Given the description of an element on the screen output the (x, y) to click on. 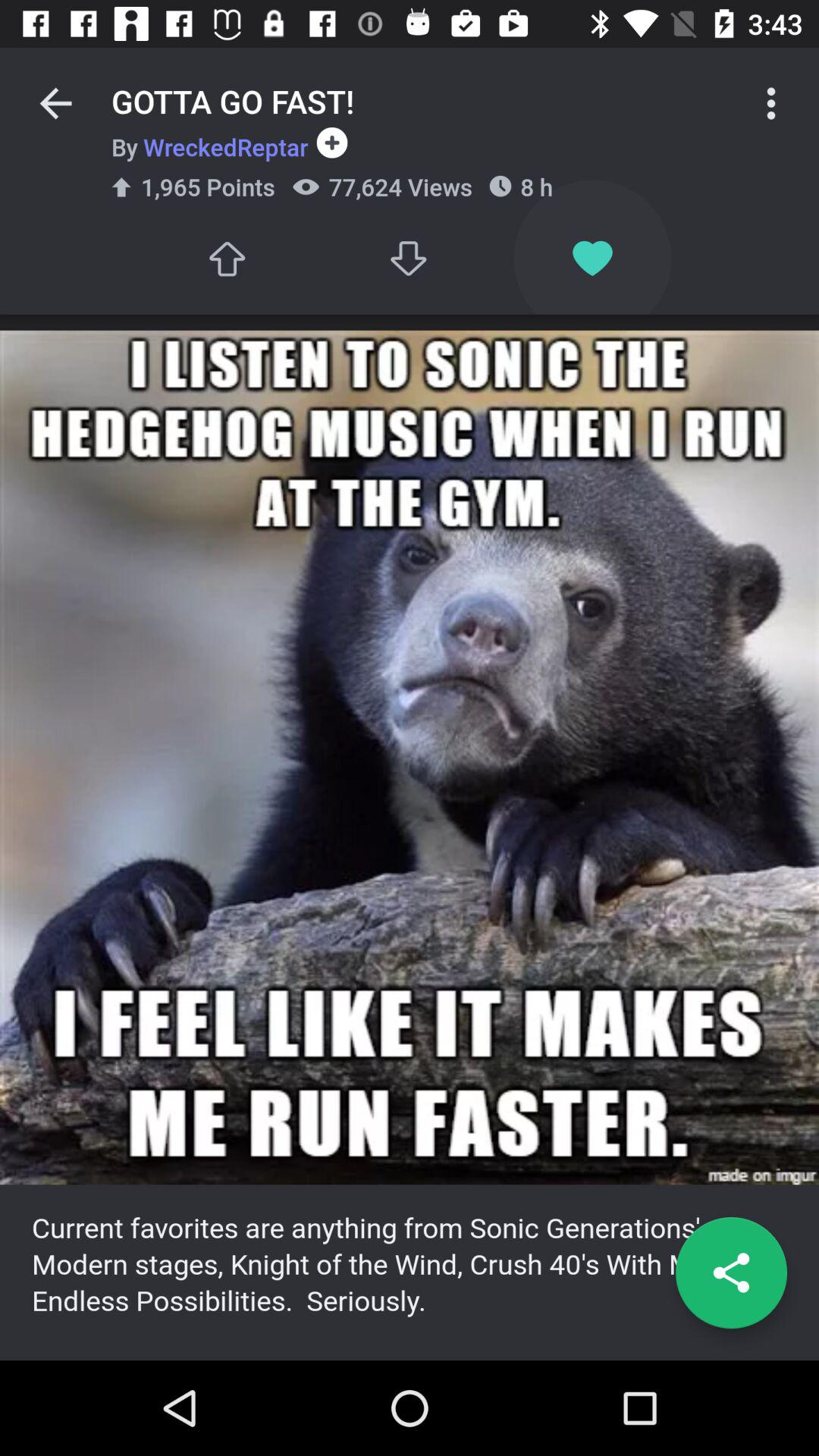
turn off the icon next to the 8 h icon (409, 258)
